Given the description of an element on the screen output the (x, y) to click on. 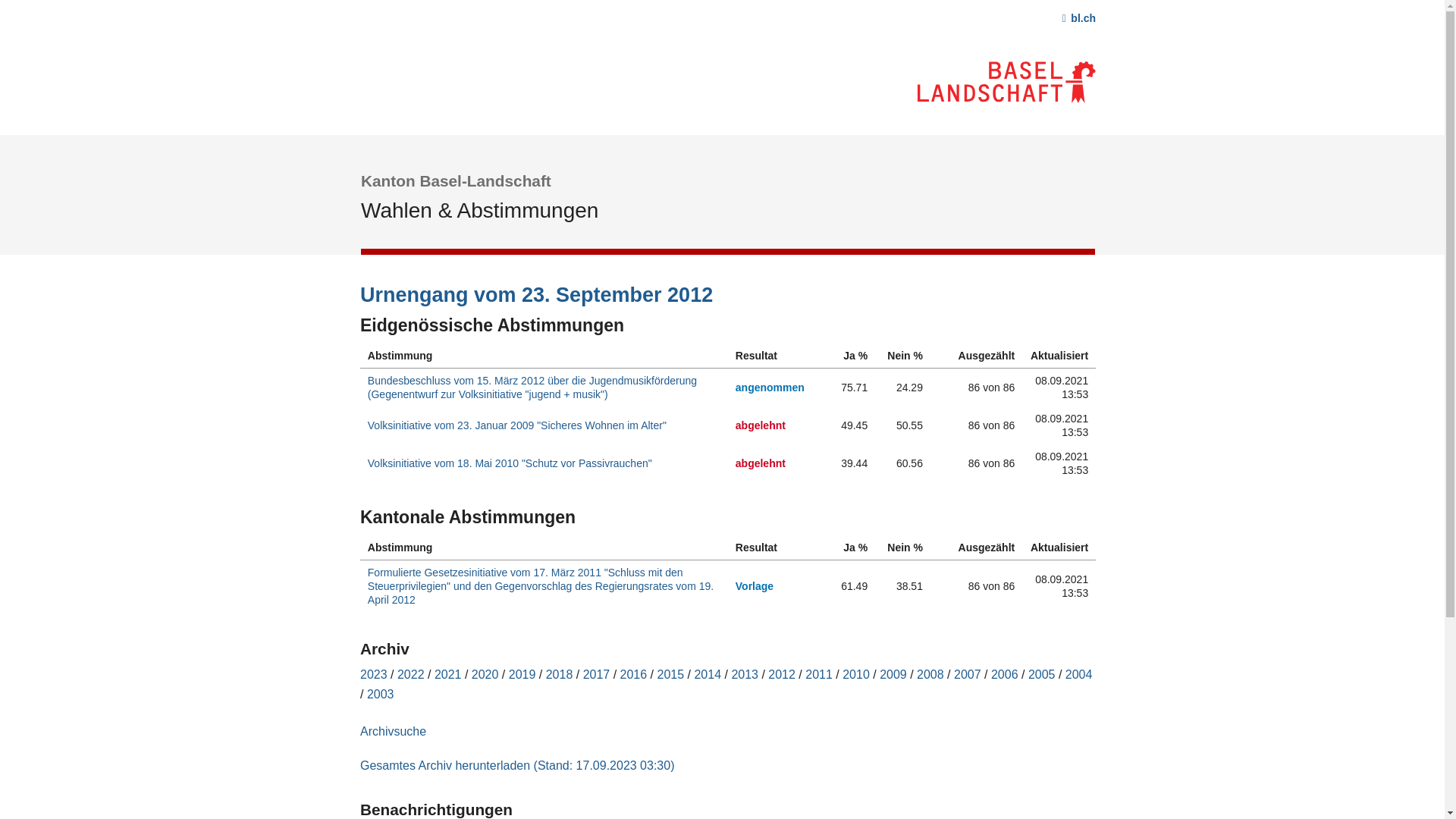
bl.ch Element type: text (1078, 18)
2004 Element type: text (1078, 674)
Archivsuche Element type: text (393, 730)
2016 Element type: text (633, 674)
2010 Element type: text (855, 674)
2008 Element type: text (930, 674)
Urnengang vom 23. September 2012 Element type: text (360, 282)
Gesamtes Archiv herunterladen (Stand: 17.09.2023 03:30) Element type: text (517, 765)
2012 Element type: text (781, 674)
2017 Element type: text (596, 674)
2020 Element type: text (484, 674)
2005 Element type: text (1041, 674)
2015 Element type: text (670, 674)
2019 Element type: text (522, 674)
2013 Element type: text (744, 674)
2011 Element type: text (818, 674)
2018 Element type: text (559, 674)
Volksinitiative vom 18. Mai 2010 "Schutz vor Passivrauchen" Element type: text (509, 463)
2003 Element type: text (380, 693)
2022 Element type: text (410, 674)
2009 Element type: text (892, 674)
2021 Element type: text (447, 674)
Startseite Element type: hover (1006, 79)
2007 Element type: text (967, 674)
Startseite Element type: text (727, 12)
2023 Element type: text (373, 674)
2006 Element type: text (1004, 674)
2014 Element type: text (707, 674)
Urnengang vom 23. September 2012 Element type: text (536, 294)
